Given the description of an element on the screen output the (x, y) to click on. 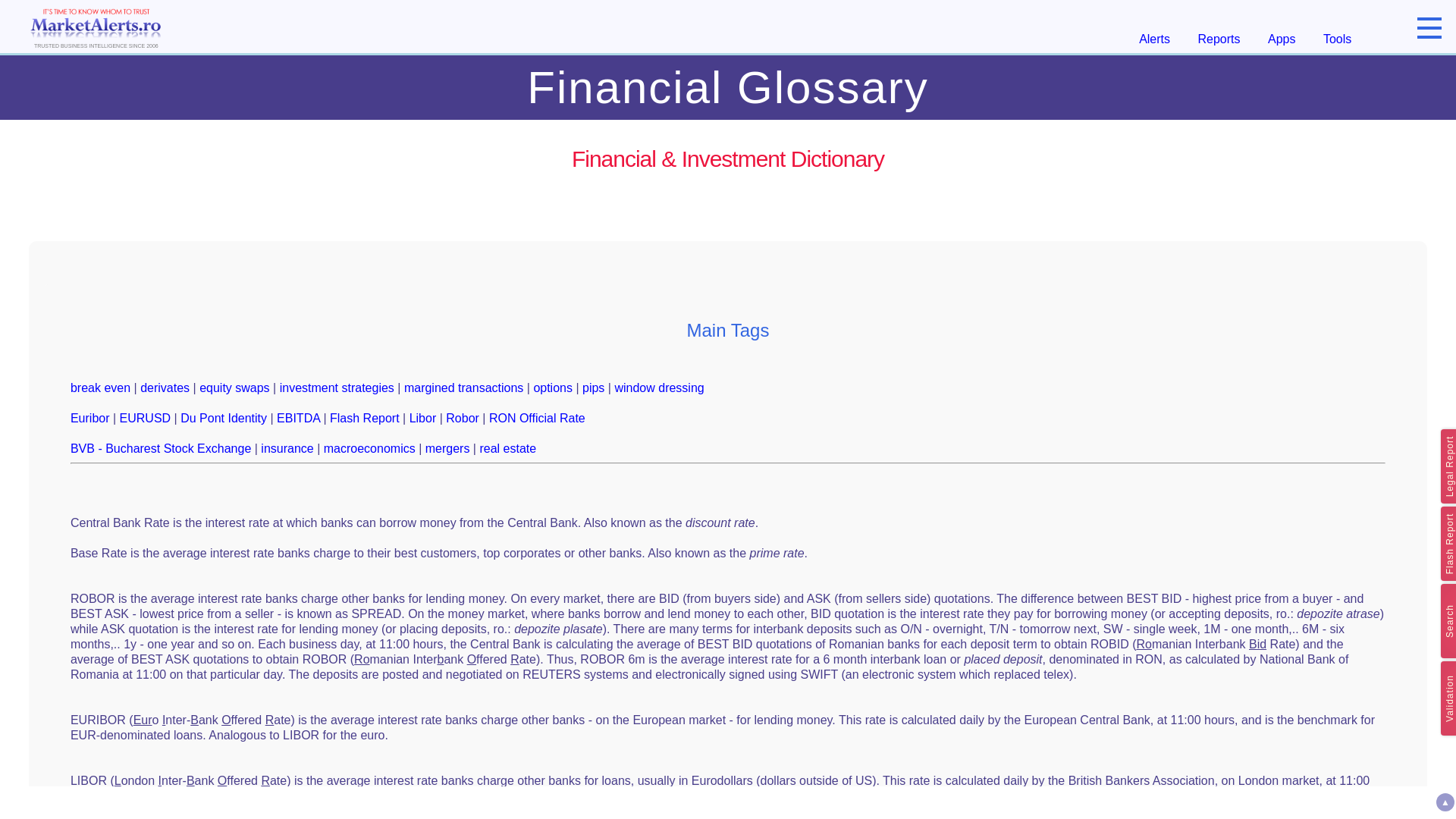
EURUSD (145, 418)
Alerts (1154, 38)
Explore our Home page (96, 26)
investment strategies (336, 387)
equity swaps (234, 387)
Top (1444, 802)
Tools (1337, 38)
EBITDA (298, 418)
insurance (286, 448)
mergers (447, 448)
Apps (1281, 38)
margined transactions (463, 387)
real estate (507, 448)
Reports (1219, 38)
Euribor (89, 418)
